Given the description of an element on the screen output the (x, y) to click on. 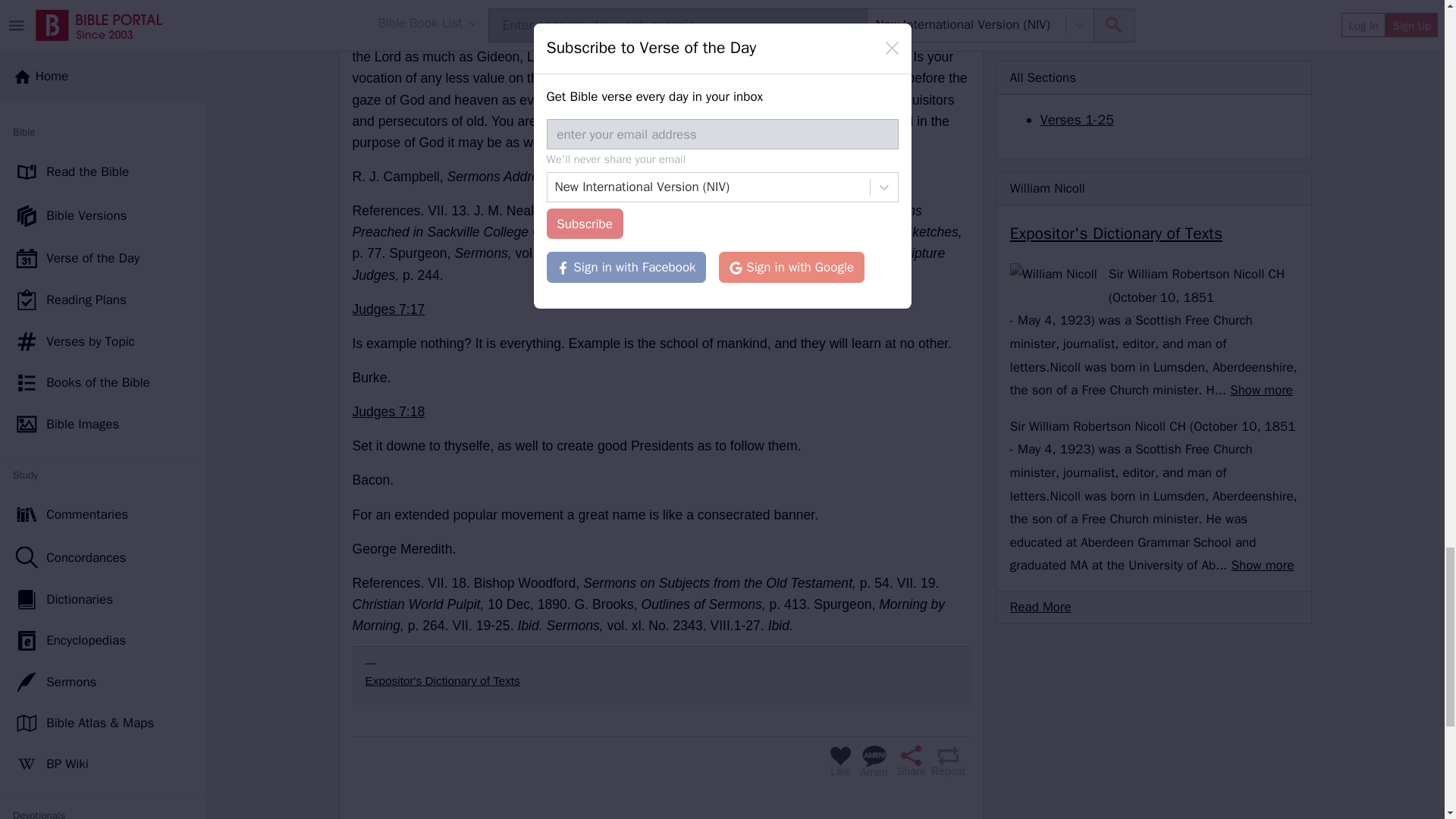
Amen (874, 761)
Bible Passages - Judges 7:18 - click to view detail (388, 411)
Share (909, 761)
Repost (947, 761)
Bible Passages - Judges 7:17 - click to view detail (388, 309)
Like (840, 761)
